Given the description of an element on the screen output the (x, y) to click on. 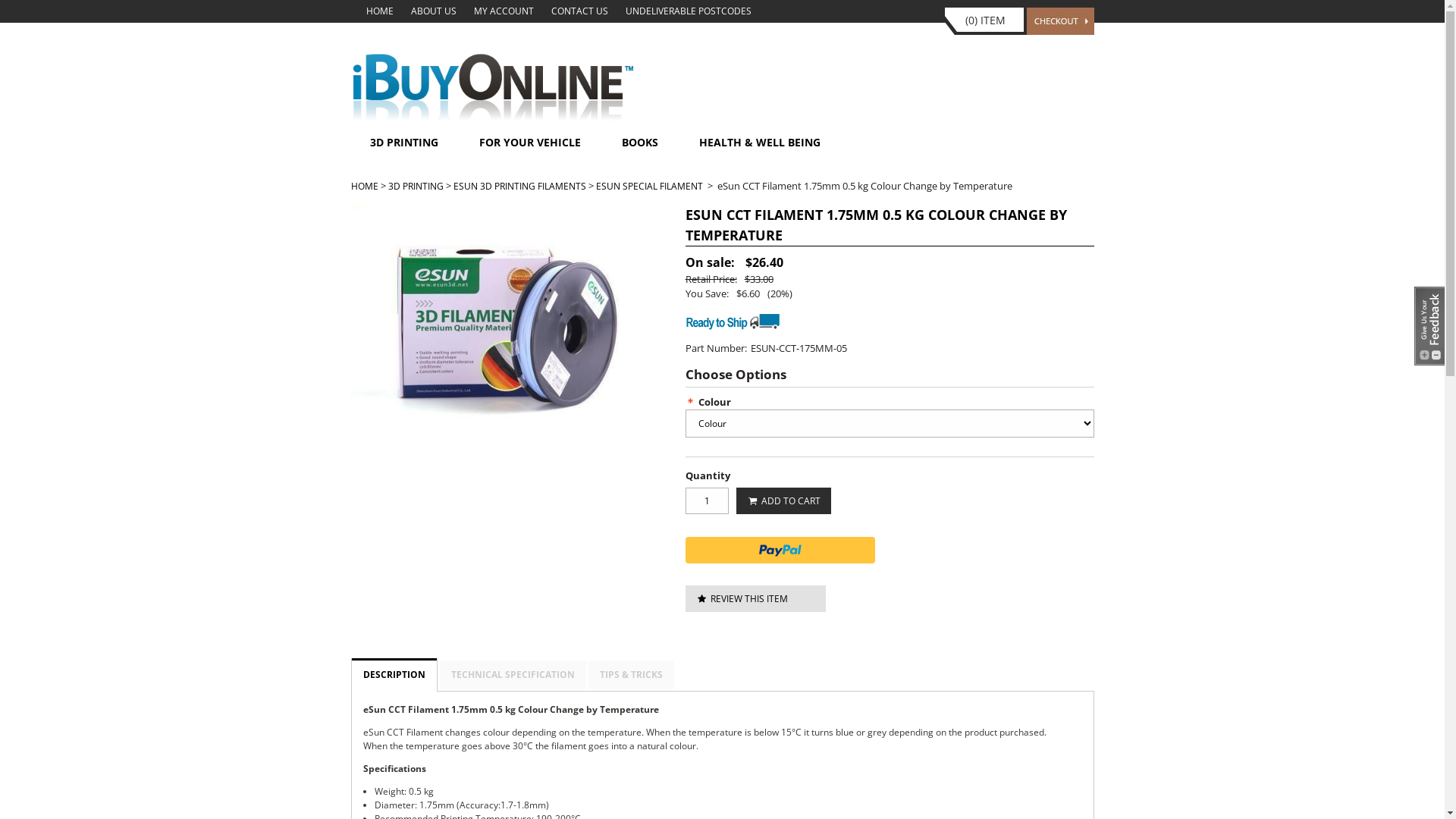
3D PRINTING Element type: text (403, 142)
ESUN 3D PRINTING FILAMENTS Element type: text (519, 185)
FOR YOUR VEHICLE Element type: text (529, 142)
HOME Element type: text (492, 117)
CONTACT US Element type: text (578, 10)
(0) ITEM Element type: text (985, 23)
3D PRINTING Element type: text (415, 185)
Feedback Element type: hover (1429, 325)
HOME Element type: text (378, 10)
DESCRIPTION Element type: text (393, 673)
ABOUT US Element type: text (433, 10)
REVIEW THIS ITEM Element type: text (755, 598)
ADD TO CART Element type: text (783, 500)
TECHNICAL SPECIFICATION Element type: text (512, 674)
BOOKS Element type: text (639, 142)
MY ACCOUNT Element type: text (503, 10)
UNDELIVERABLE POSTCODES Element type: text (687, 10)
TIPS & TRICKS Element type: text (631, 674)
HEALTH & WELL BEING Element type: text (759, 142)
HOME Element type: text (363, 185)
PayPal Element type: hover (780, 549)
ESUN SPECIAL FILAMENT Element type: text (649, 185)
